Given the description of an element on the screen output the (x, y) to click on. 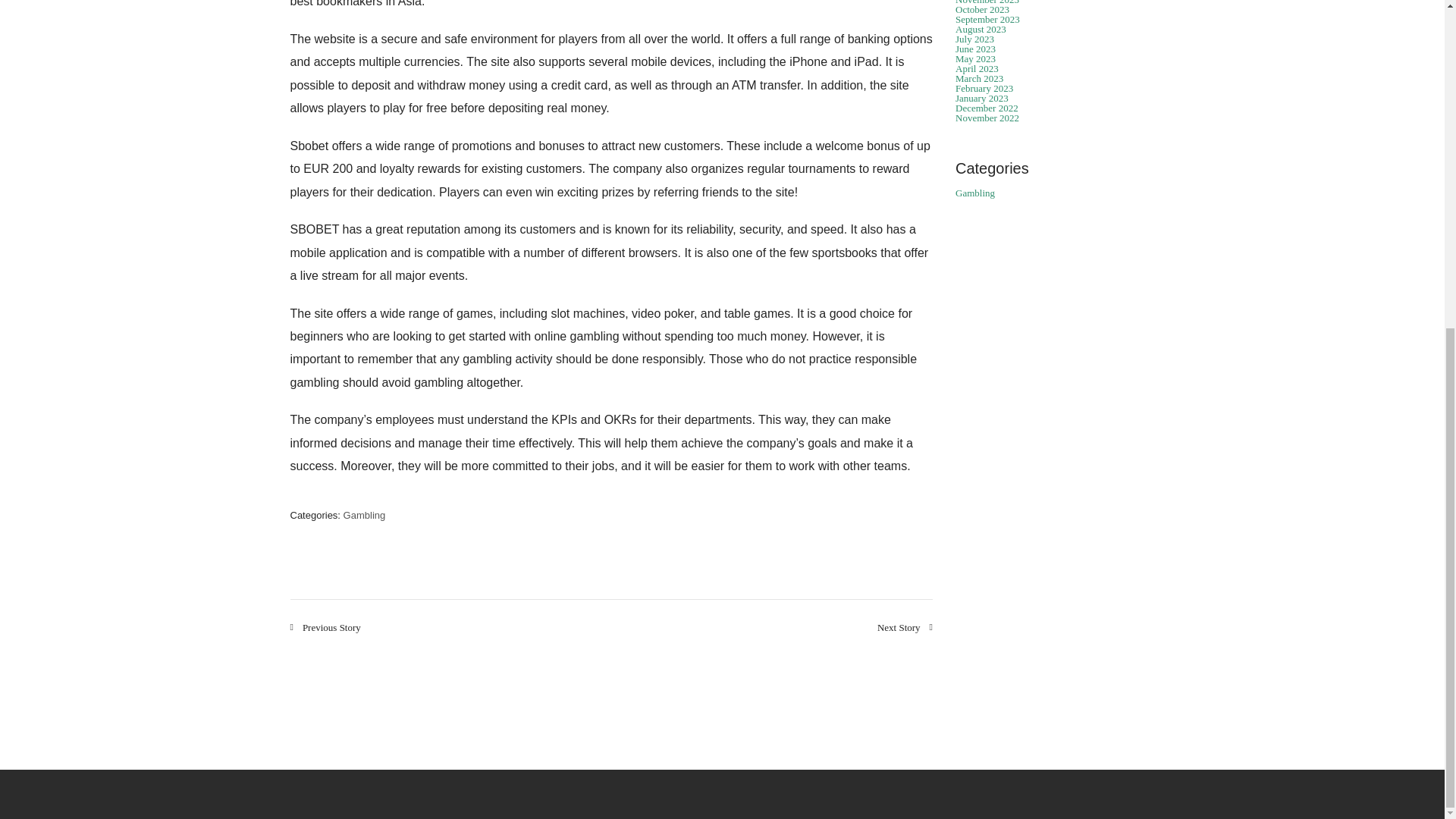
September 2023 (987, 19)
Next Story (905, 627)
December 2022 (986, 107)
March 2023 (979, 78)
October 2023 (982, 9)
May 2023 (975, 58)
June 2023 (975, 48)
Previous Story (324, 627)
February 2023 (984, 88)
August 2023 (980, 29)
November 2023 (987, 2)
January 2023 (982, 98)
July 2023 (974, 39)
April 2023 (976, 68)
Gambling (364, 514)
